Given the description of an element on the screen output the (x, y) to click on. 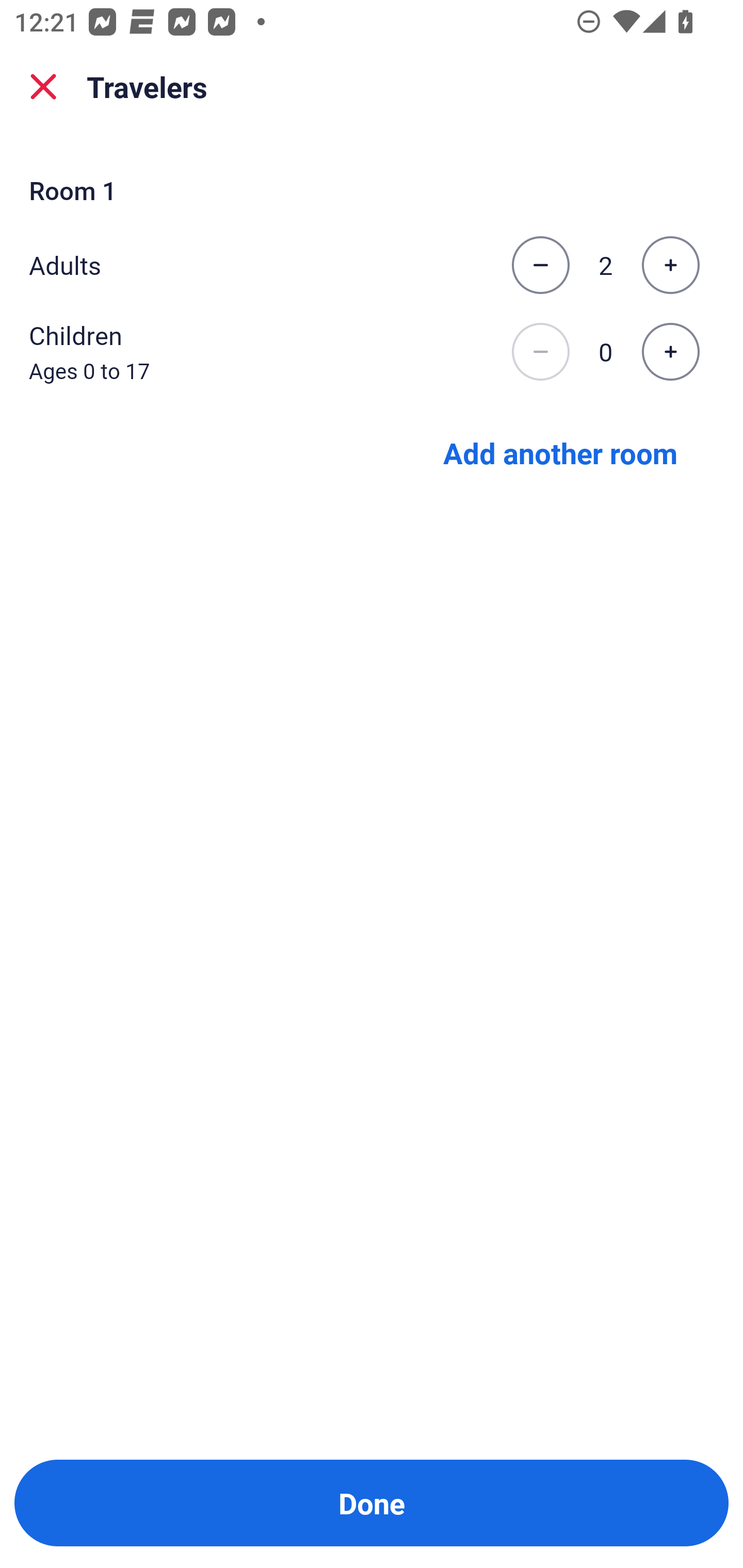
close (43, 86)
Decrease the number of adults (540, 264)
Increase the number of adults (670, 264)
Decrease the number of children (540, 351)
Increase the number of children (670, 351)
Add another room (560, 452)
Done (371, 1502)
